Given the description of an element on the screen output the (x, y) to click on. 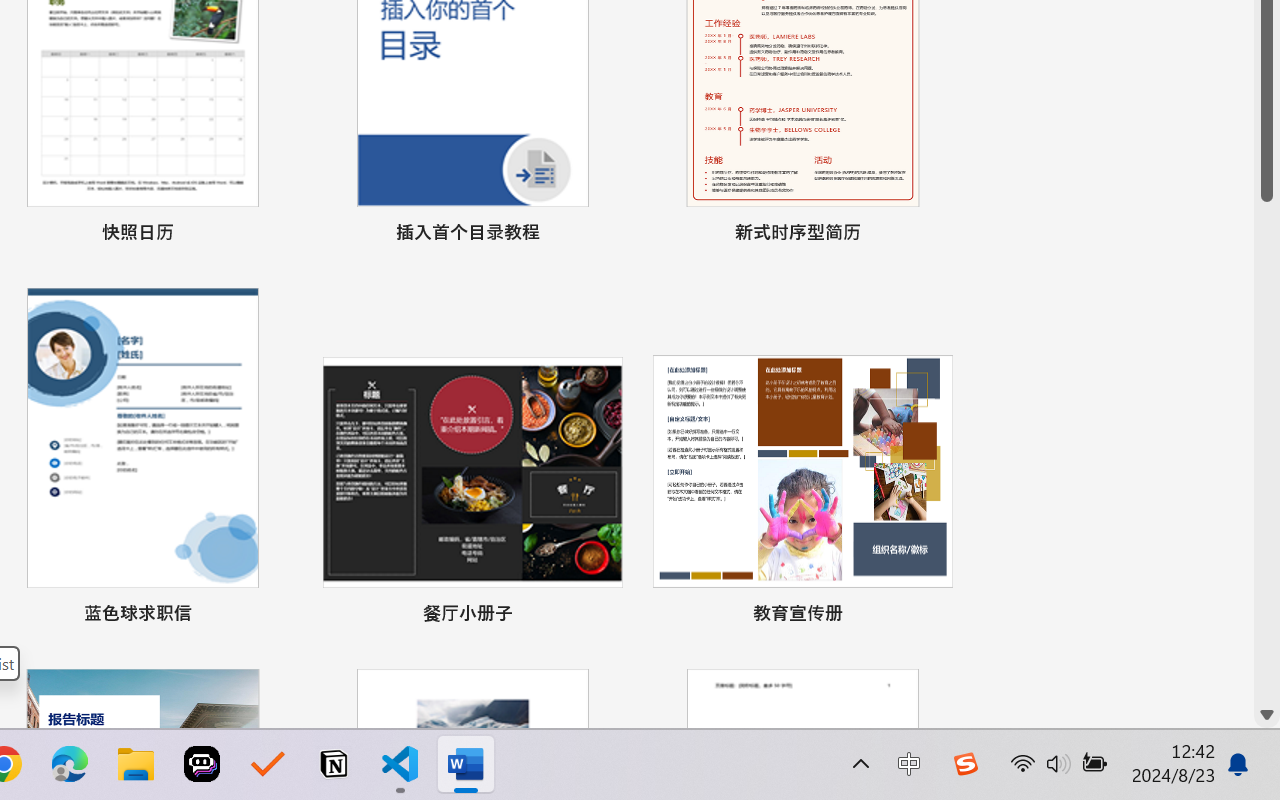
Last Shelter: Survival Rated 4.2 stars out of five stars (236, 645)
Merge Mansion Rated 4.3 stars out of five stars (72, 645)
